Given the description of an element on the screen output the (x, y) to click on. 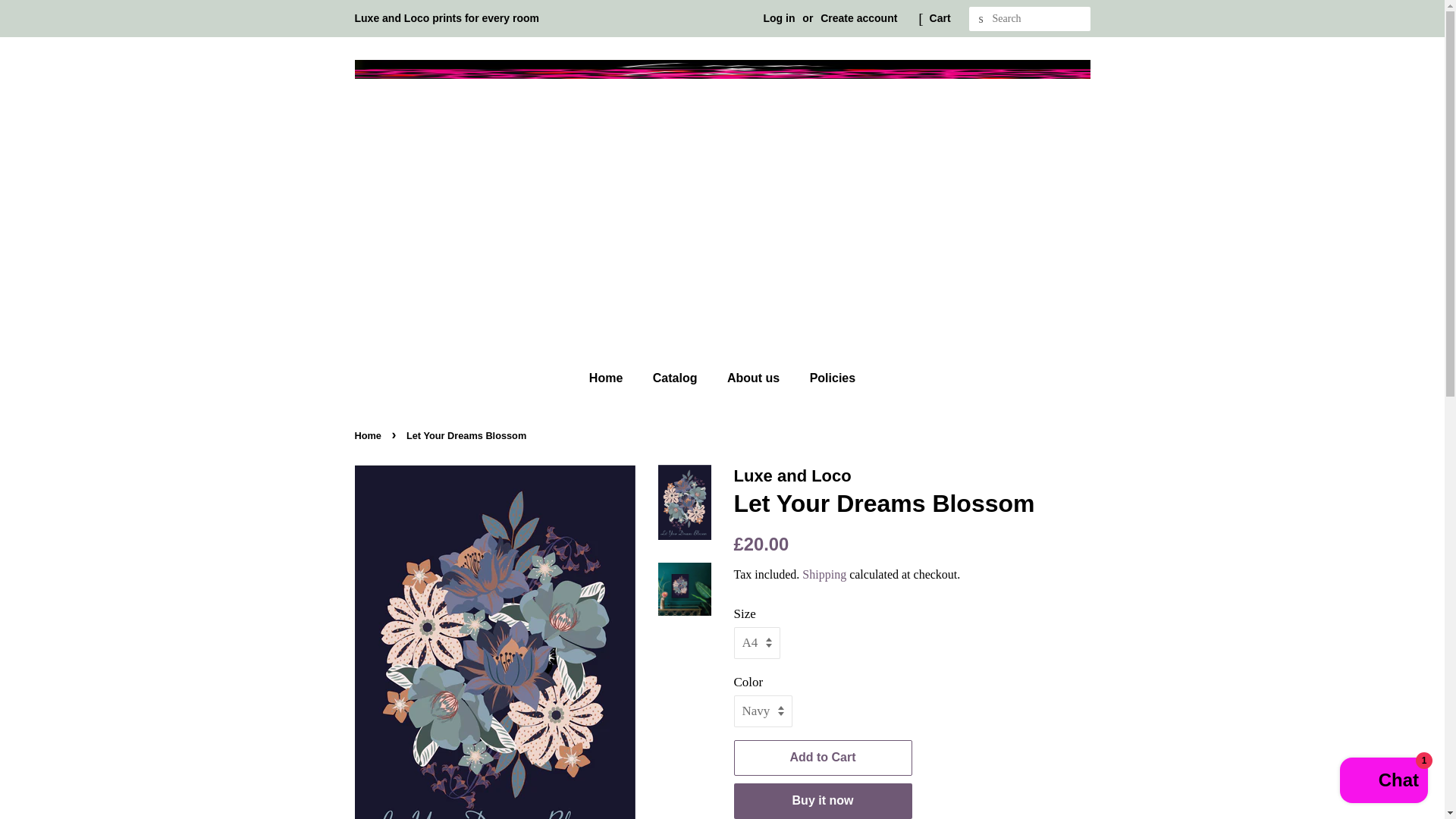
Catalog (677, 377)
Create account (858, 18)
Cart (940, 18)
Home (370, 435)
Log in (778, 18)
Add to Cart (822, 757)
Shopify online store chat (1383, 781)
About us (755, 377)
Search (980, 18)
Policies (826, 377)
Home (613, 377)
Buy it now (822, 800)
Back to the frontpage (370, 435)
Shipping (823, 574)
